Given the description of an element on the screen output the (x, y) to click on. 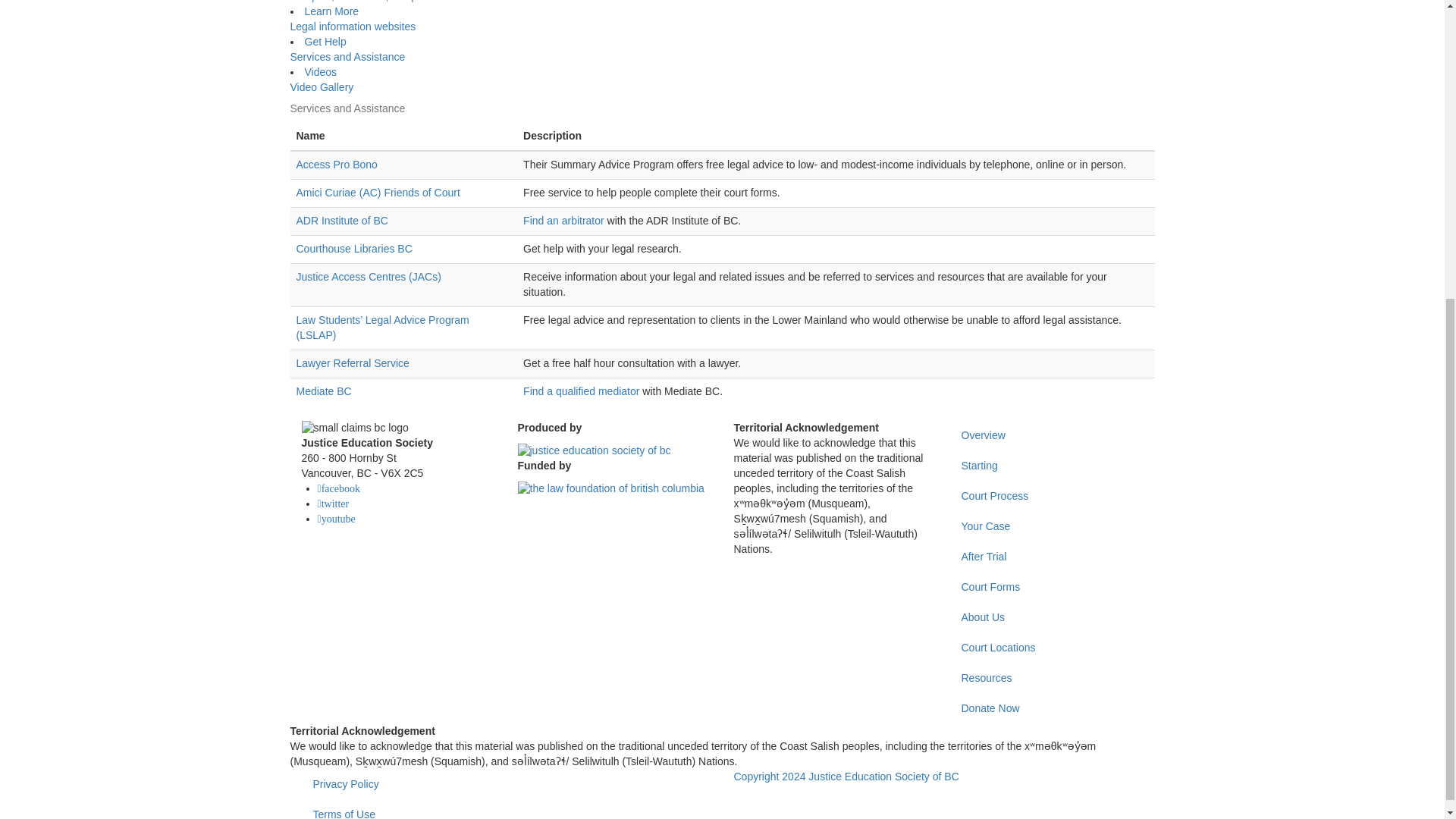
Facebook (338, 488)
Twitter (333, 503)
youtube (336, 518)
